Given the description of an element on the screen output the (x, y) to click on. 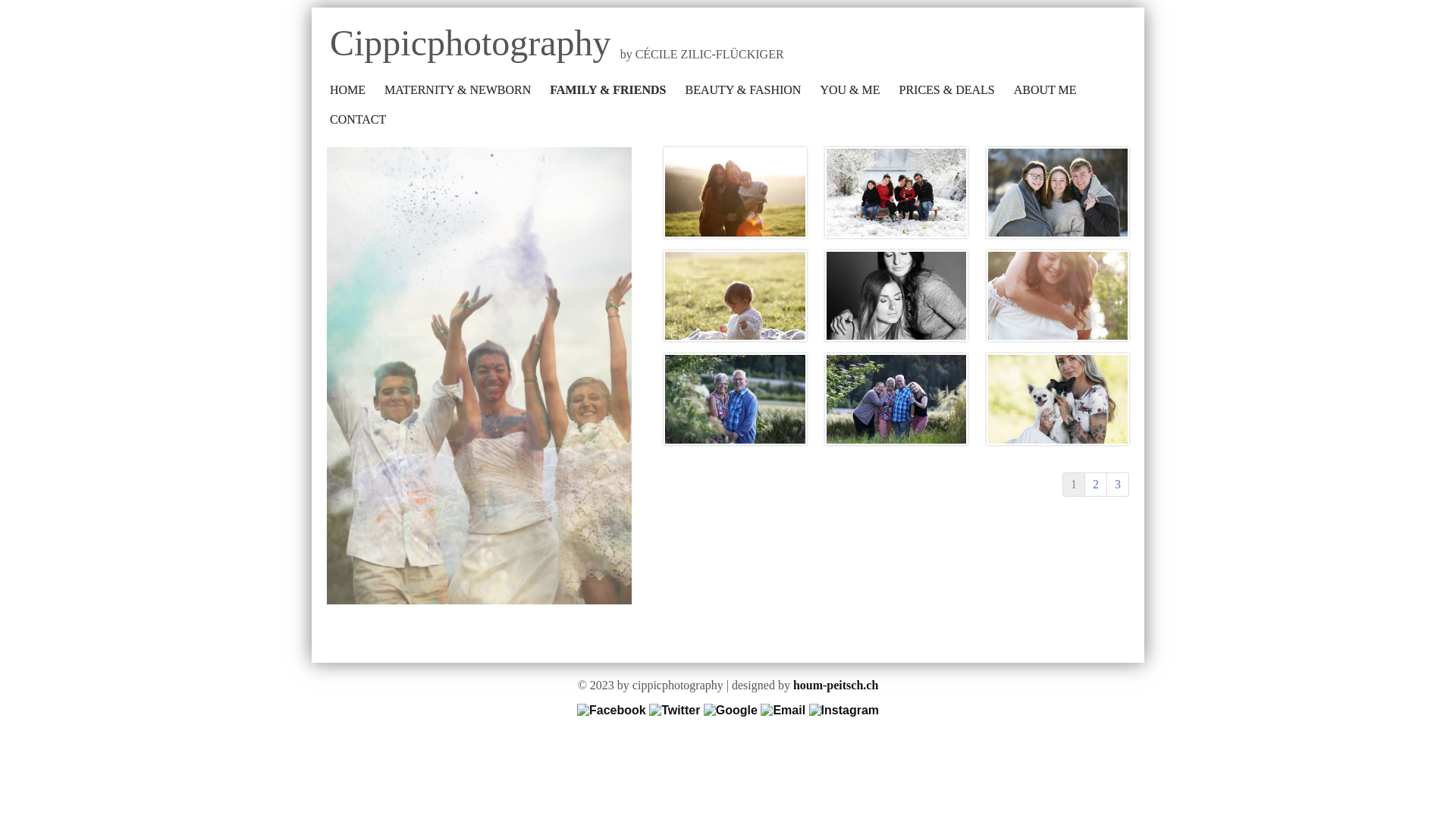
HOME Element type: text (347, 90)
BEAUTY & FASHION Element type: text (742, 90)
MATERNITY & NEWBORN Element type: text (457, 90)
PRICES & DEALS Element type: text (946, 90)
FAMILY & FRIENDS Element type: text (607, 90)
ABOUT ME Element type: text (1044, 90)
CONTACT Element type: text (357, 119)
YOU & ME Element type: text (849, 90)
houm-peitsch.ch Element type: text (835, 684)
